Given the description of an element on the screen output the (x, y) to click on. 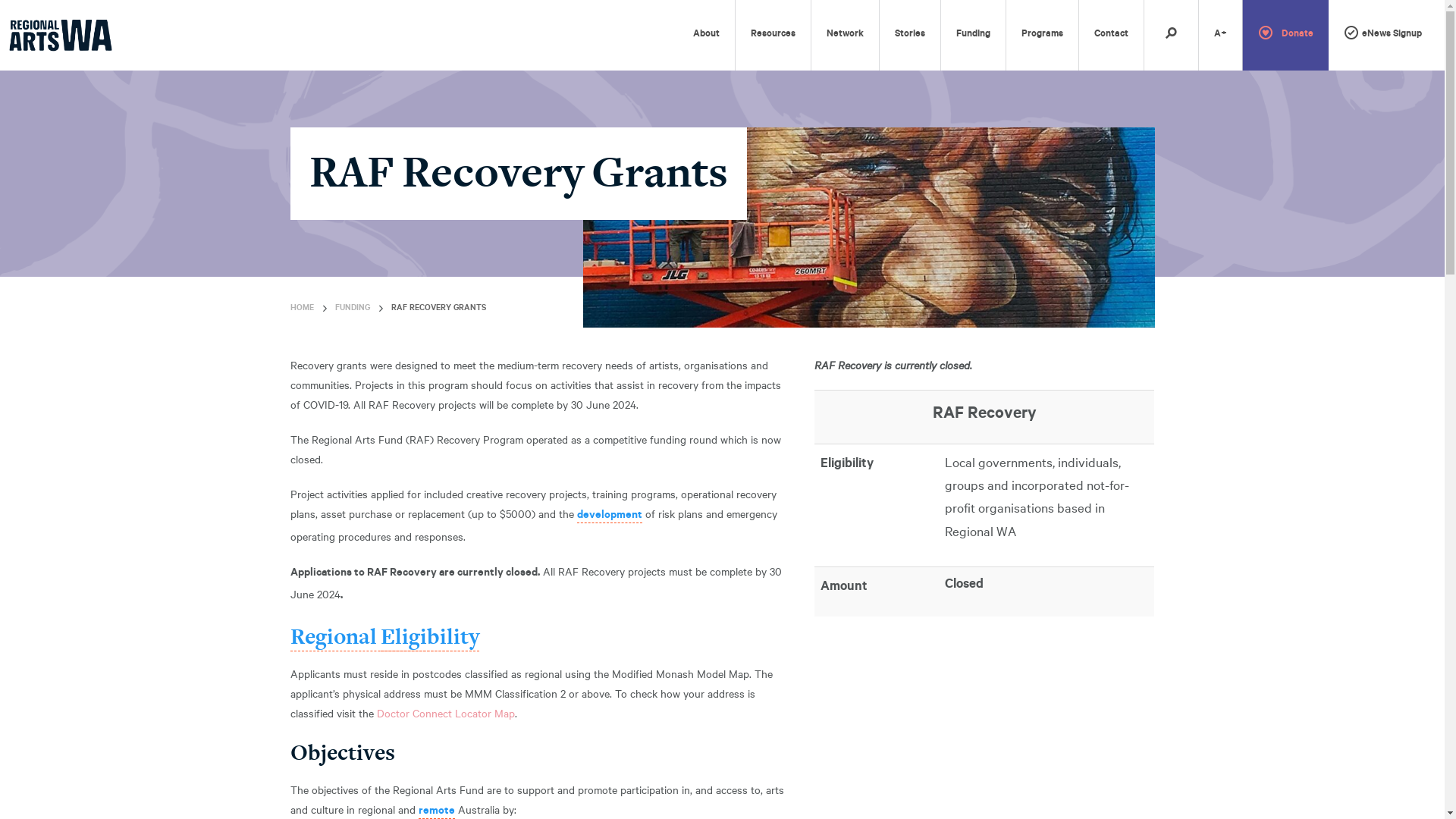
Doctor Connect Locator Map Element type: text (445, 712)
eNews Signup Element type: text (1382, 35)
Network Element type: text (844, 35)
HOME Element type: text (301, 308)
Programs Element type: text (1042, 35)
RAF RECOVERY GRANTS Element type: text (438, 308)
About Element type: text (705, 35)
Donate Element type: text (1285, 35)
Stories Element type: text (909, 35)
Regional Arts WA Element type: text (60, 34)
Funding Element type: text (973, 35)
Resources Element type: text (772, 35)
Contact Element type: text (1111, 35)
FUNDING Element type: text (352, 308)
A+ Element type: text (1220, 35)
